Given the description of an element on the screen output the (x, y) to click on. 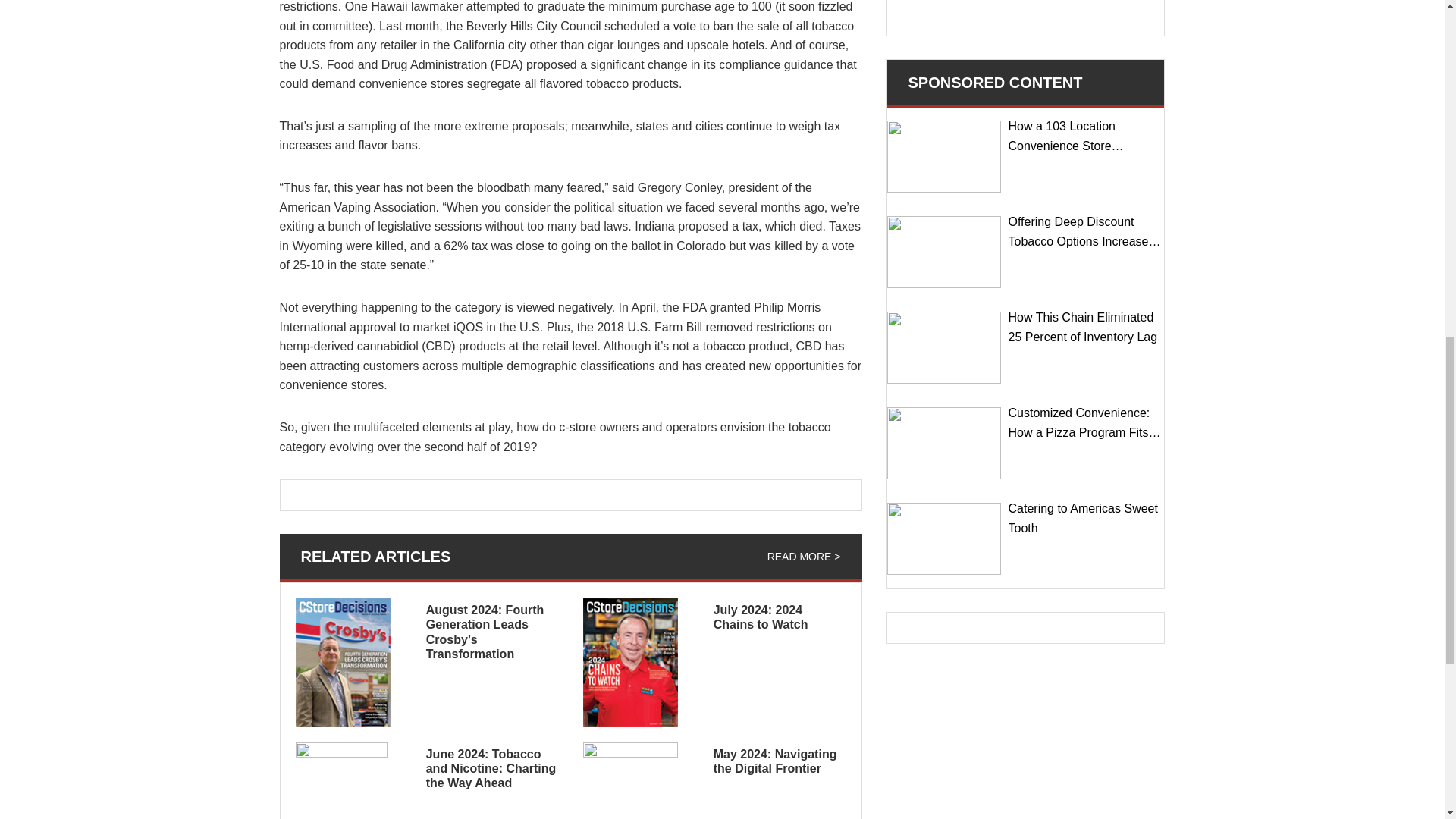
Offering Deep Discount Tobacco Options Increases Revenue (943, 252)
How a 103 Location Convenience Store Enhanced Operations (943, 156)
How This Chain Eliminated 25 Percent of Inventory Lag (943, 348)
Catering to Americas Sweet Tooth (943, 538)
